Given the description of an element on the screen output the (x, y) to click on. 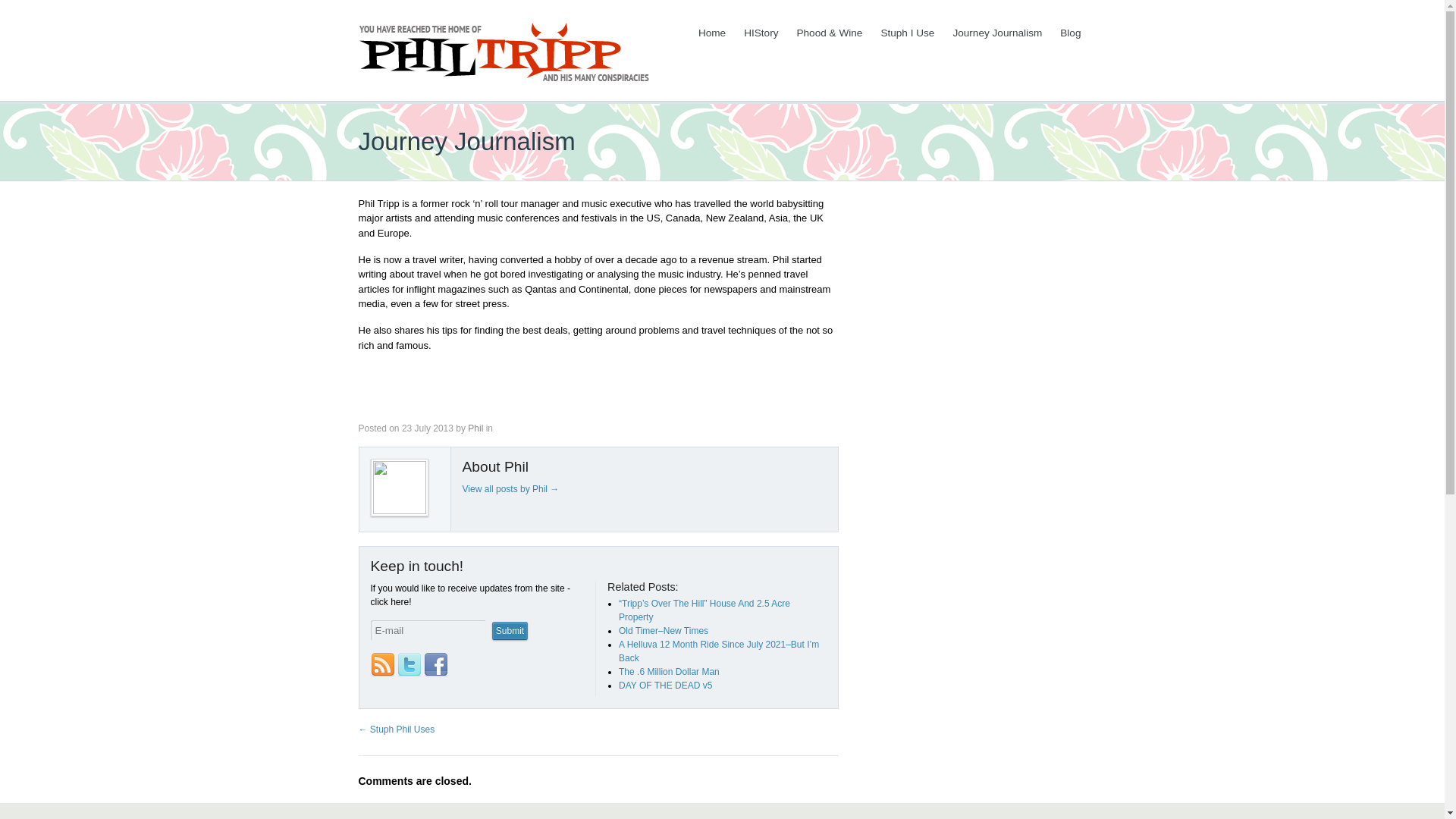
HIStory (760, 33)
DAY OF THE DEAD v5 (664, 685)
Connect on Facebook (435, 664)
Home (711, 33)
Journey Journalism (996, 33)
Posts by Phil (475, 428)
The .6 Million Dollar Man (668, 671)
Stuph I Use (907, 33)
Subscribe to our RSS feed (381, 664)
Blog (1070, 33)
